Given the description of an element on the screen output the (x, y) to click on. 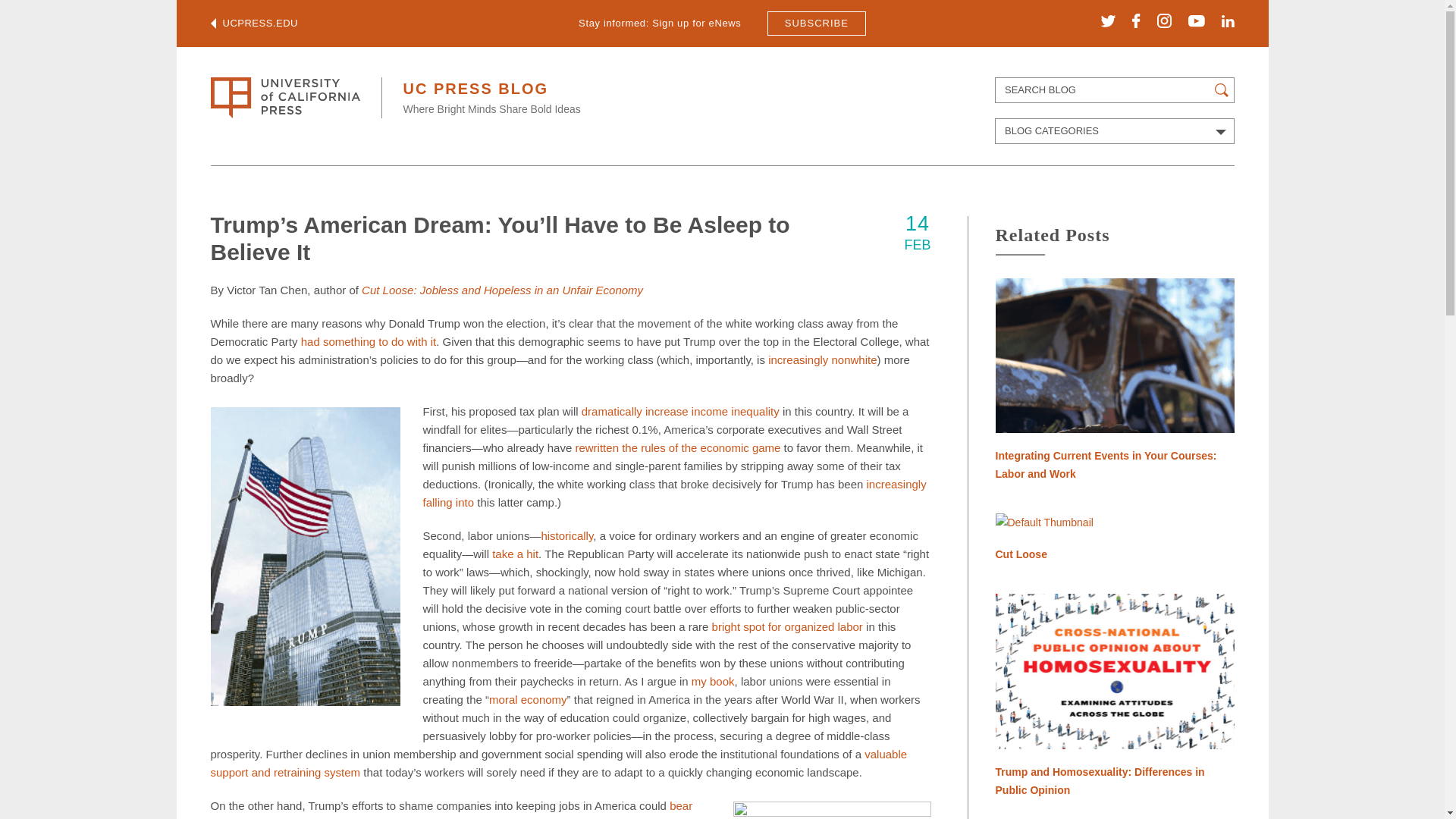
Cut Loose (1113, 538)
SEARCH BLOG (1114, 89)
SEARCH BLOG (1114, 89)
Trump and Homosexuality: Differences in Public Opinion (1113, 695)
Integrating Current Events in Your Courses: Labor and Work (1113, 380)
